Given the description of an element on the screen output the (x, y) to click on. 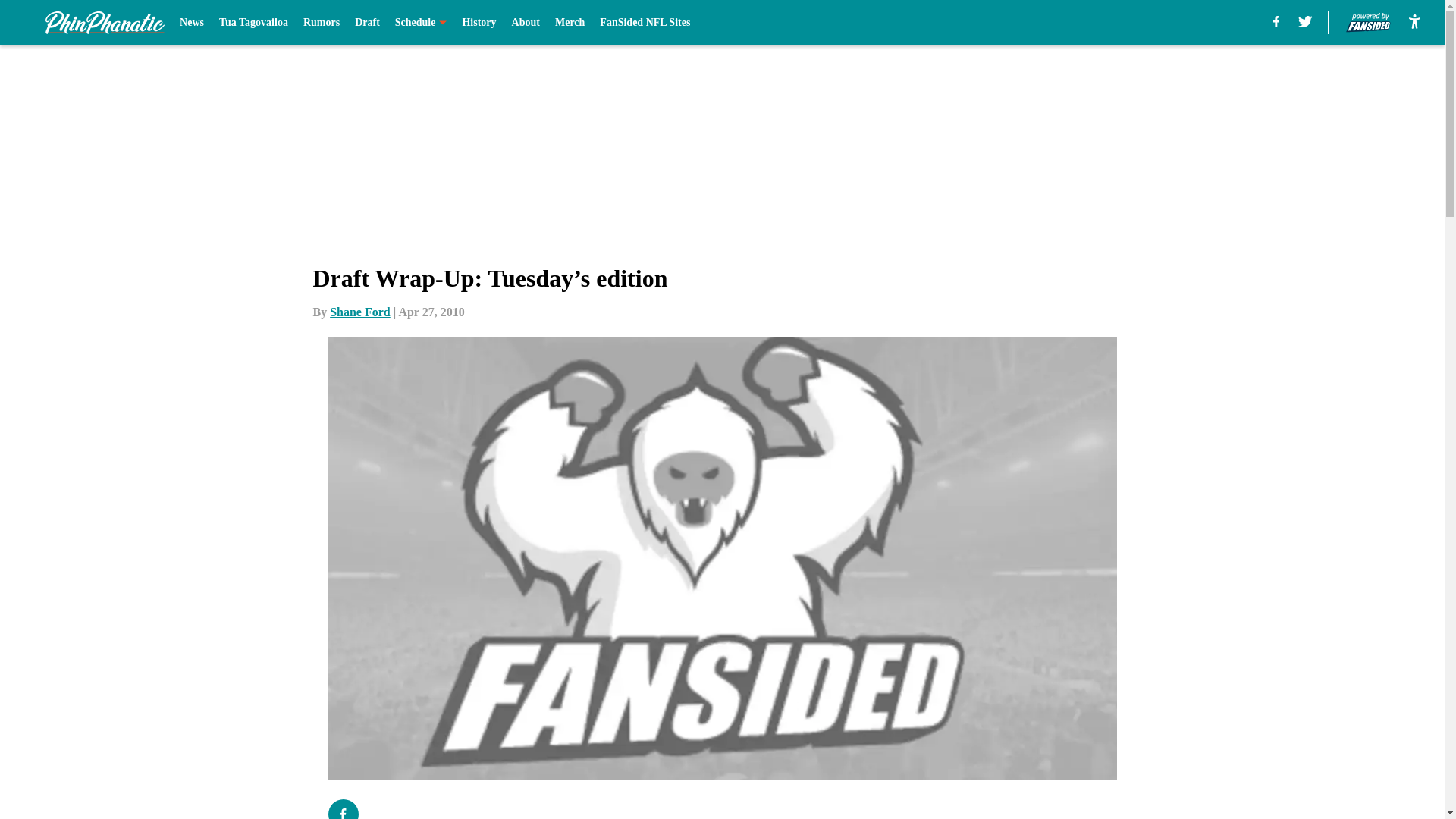
History (478, 22)
Rumors (320, 22)
About (526, 22)
Tua Tagovailoa (253, 22)
Merch (569, 22)
News (191, 22)
Shane Ford (360, 311)
FanSided NFL Sites (644, 22)
Draft (367, 22)
